Given the description of an element on the screen output the (x, y) to click on. 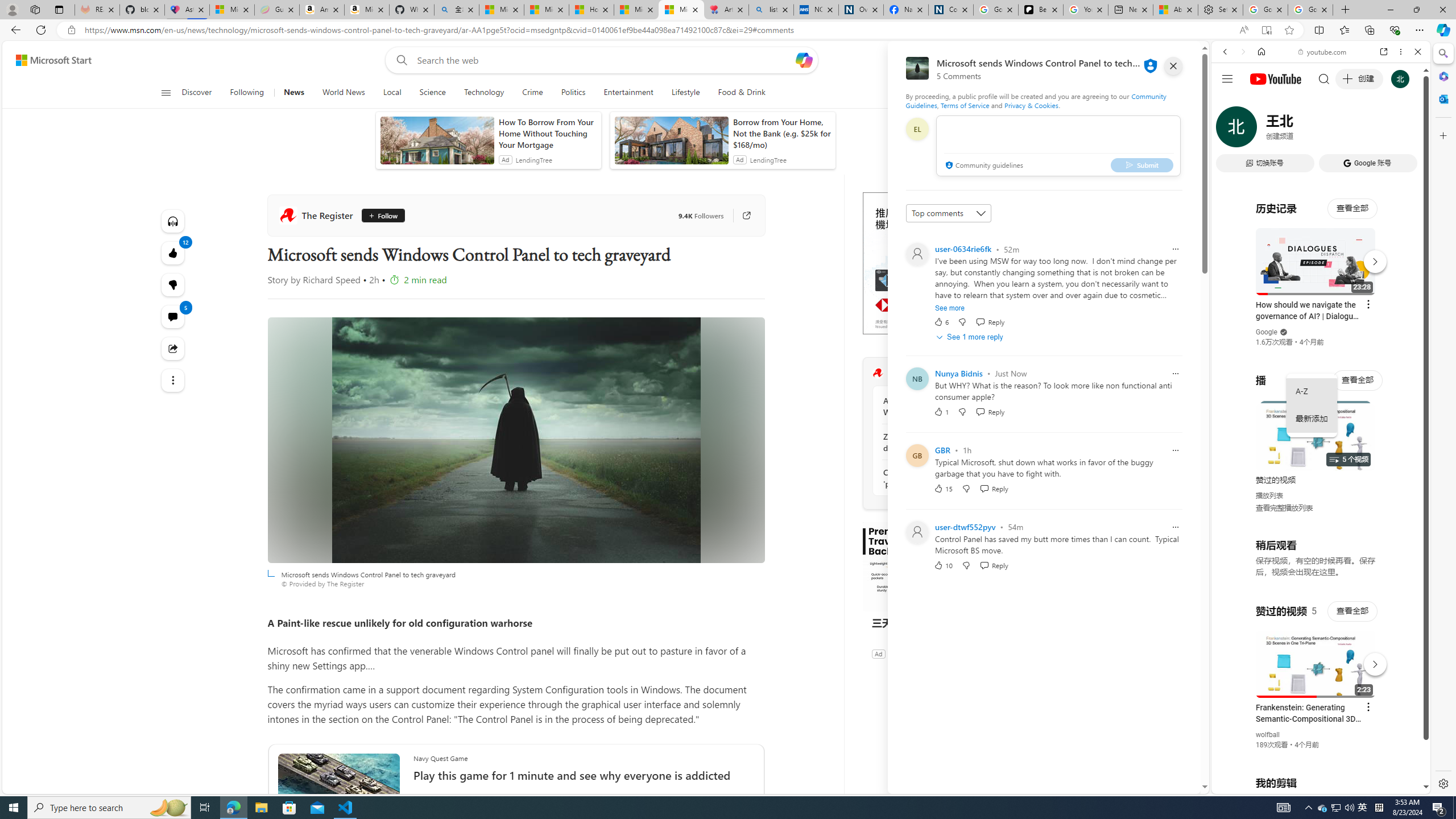
NCL Adult Asthma Inhaler Choice Guideline (816, 9)
Share this story (172, 348)
Borrow from Your Home, Not the Bank (e.g. $25k for $168/mo) (781, 133)
Terms of Service (965, 104)
Search videos from youtube.com (1299, 373)
Nunya Bidnis (958, 373)
Microsoft sends Windows Control Panel to tech graveyard (515, 440)
Report comment (1175, 526)
